Given the description of an element on the screen output the (x, y) to click on. 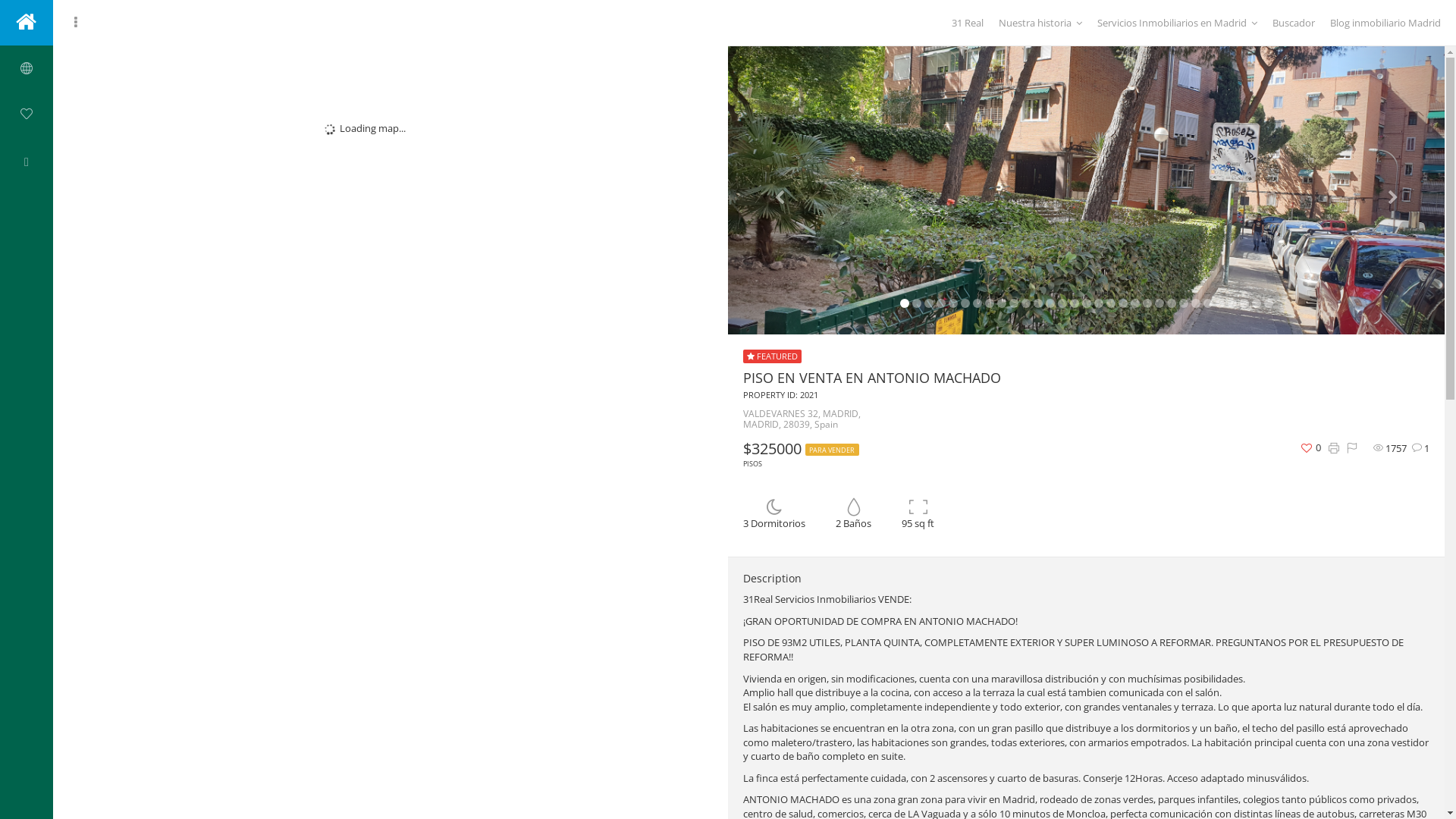
Favoritos Element type: text (26, 113)
31 Real Element type: text (967, 23)
Servicios Inmobiliarios en Madrid   Element type: text (1177, 23)
Buscar Element type: text (26, 68)
Blog inmobiliario Madrid Element type: text (1385, 23)
Mi lista Element type: text (26, 159)
Print the property page Element type: hover (1333, 448)
Nuestra historia   Element type: text (1040, 23)
Report this property listing Element type: hover (1351, 448)
Buscador Element type: text (1293, 23)
